Given the description of an element on the screen output the (x, y) to click on. 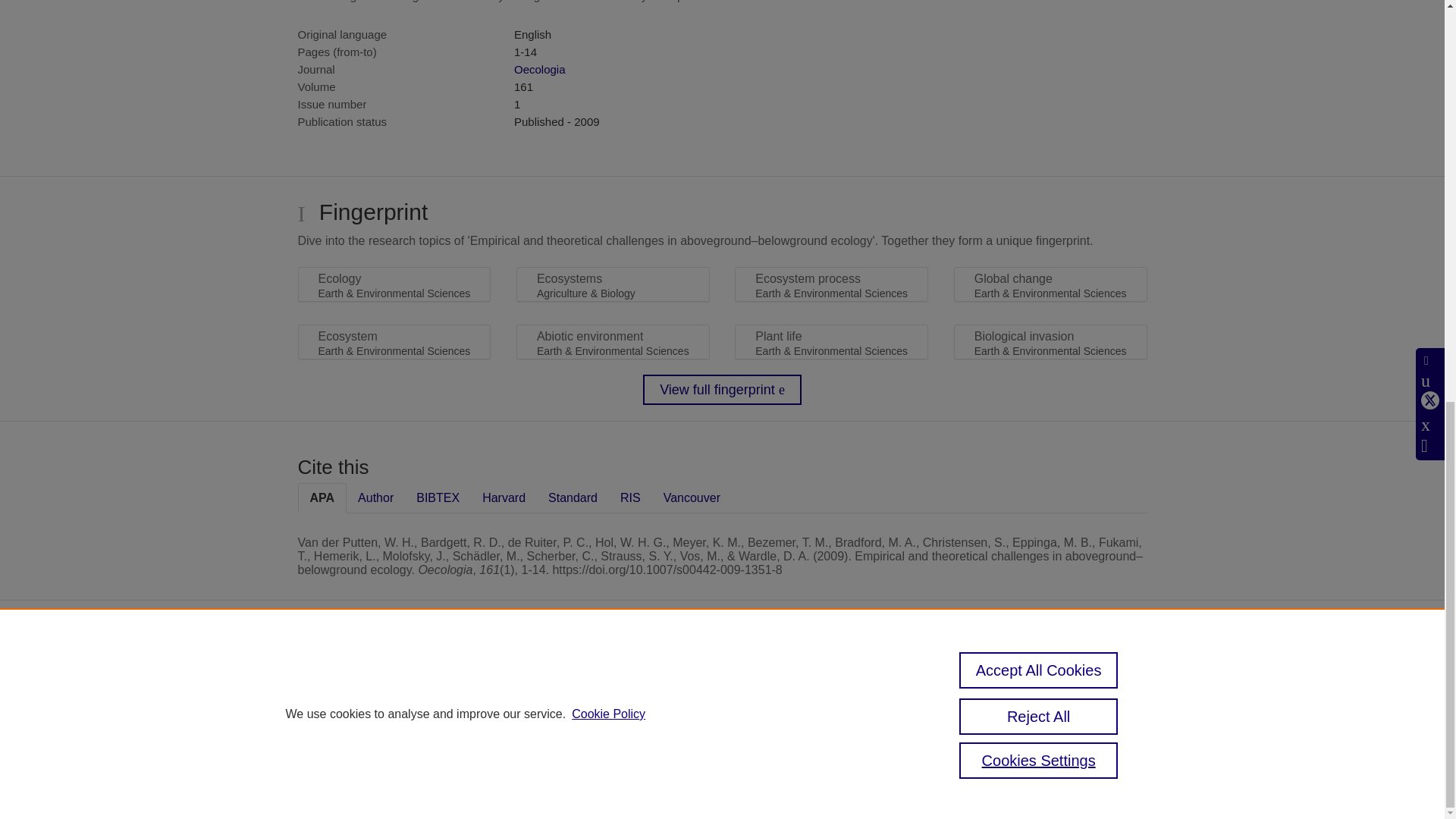
View full fingerprint (722, 389)
Oecologia (539, 69)
